Given the description of an element on the screen output the (x, y) to click on. 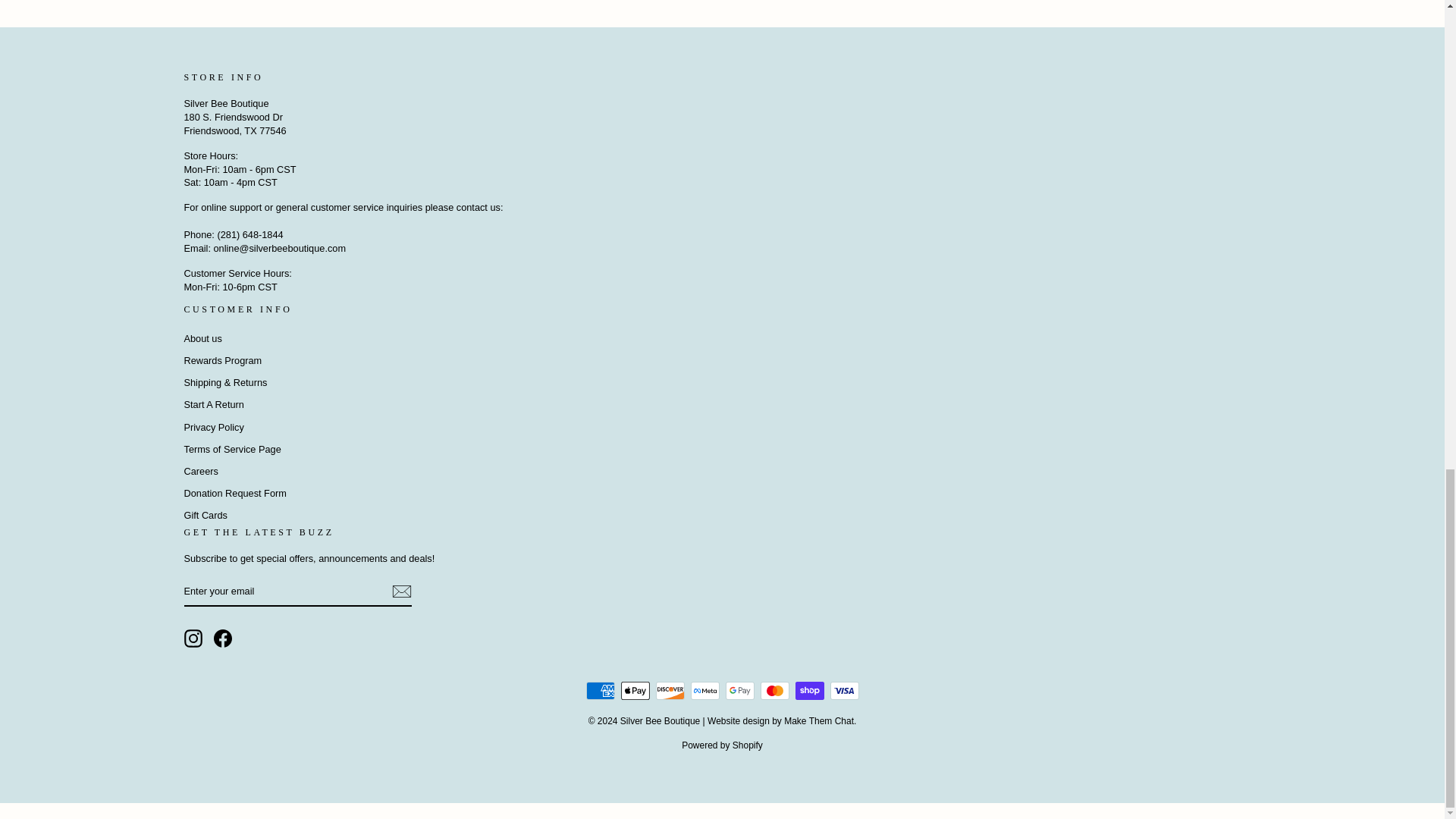
Discover (669, 690)
icon-email (400, 591)
Apple Pay (634, 690)
Silver Bee Boutique on Facebook (222, 638)
Silver Bee Boutique on Instagram (192, 638)
American Express (599, 690)
instagram (192, 638)
